Given the description of an element on the screen output the (x, y) to click on. 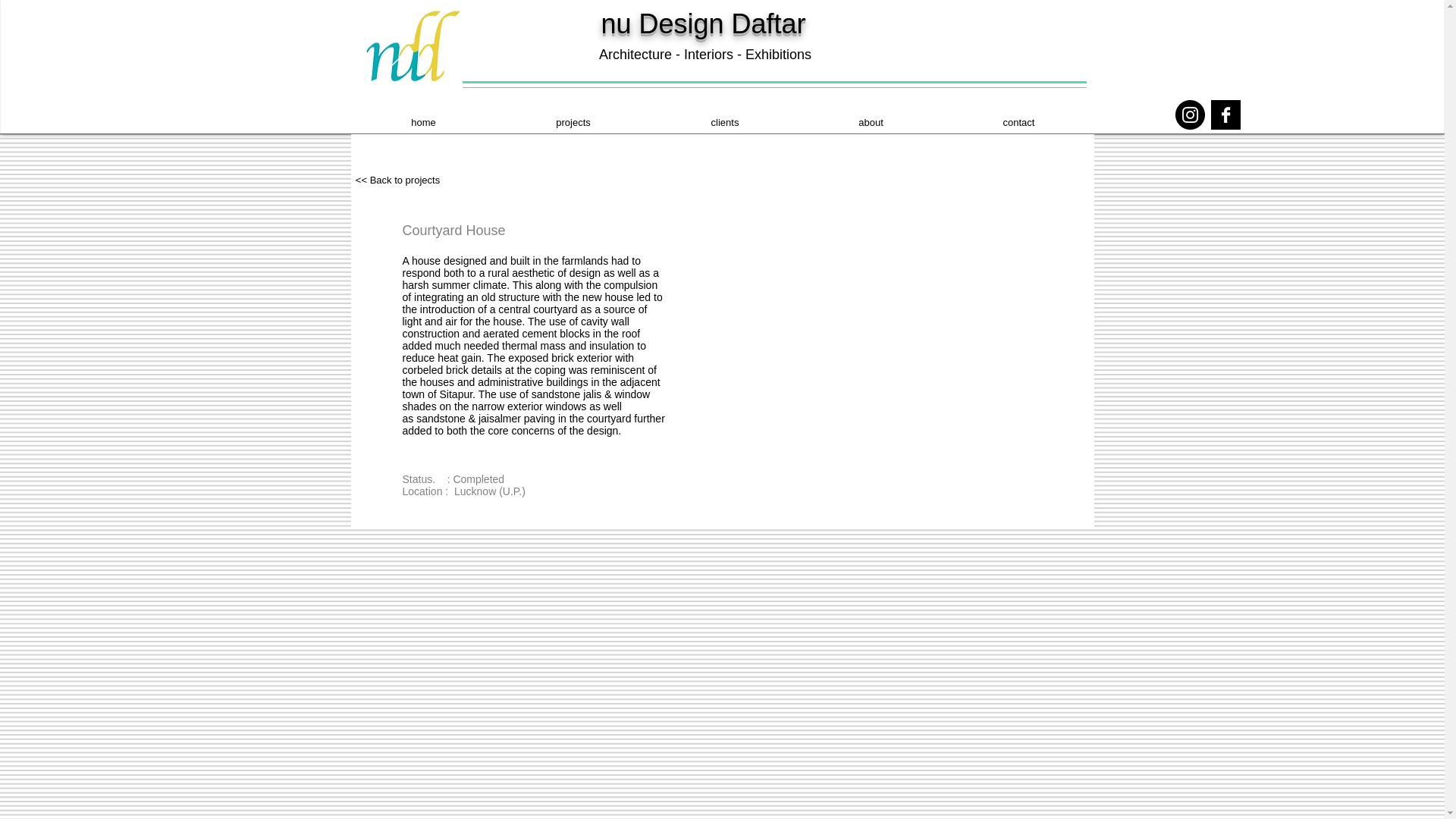
contact (1018, 122)
nu Design Daftar (702, 23)
clients (723, 122)
about (871, 122)
projects (573, 122)
home (424, 122)
